Given the description of an element on the screen output the (x, y) to click on. 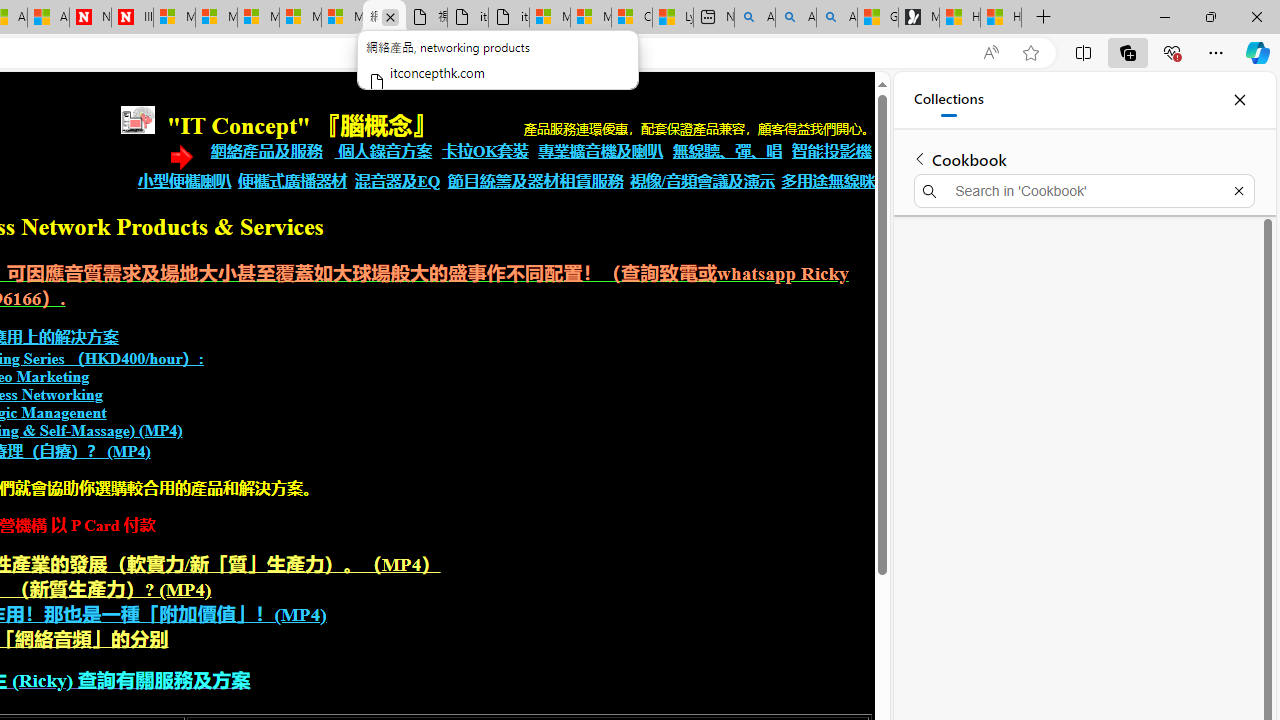
Search in 'Cookbook' (1084, 190)
How to Use a TV as a Computer Monitor (1000, 17)
Alabama high school quarterback dies - Search Videos (836, 17)
